Given the description of an element on the screen output the (x, y) to click on. 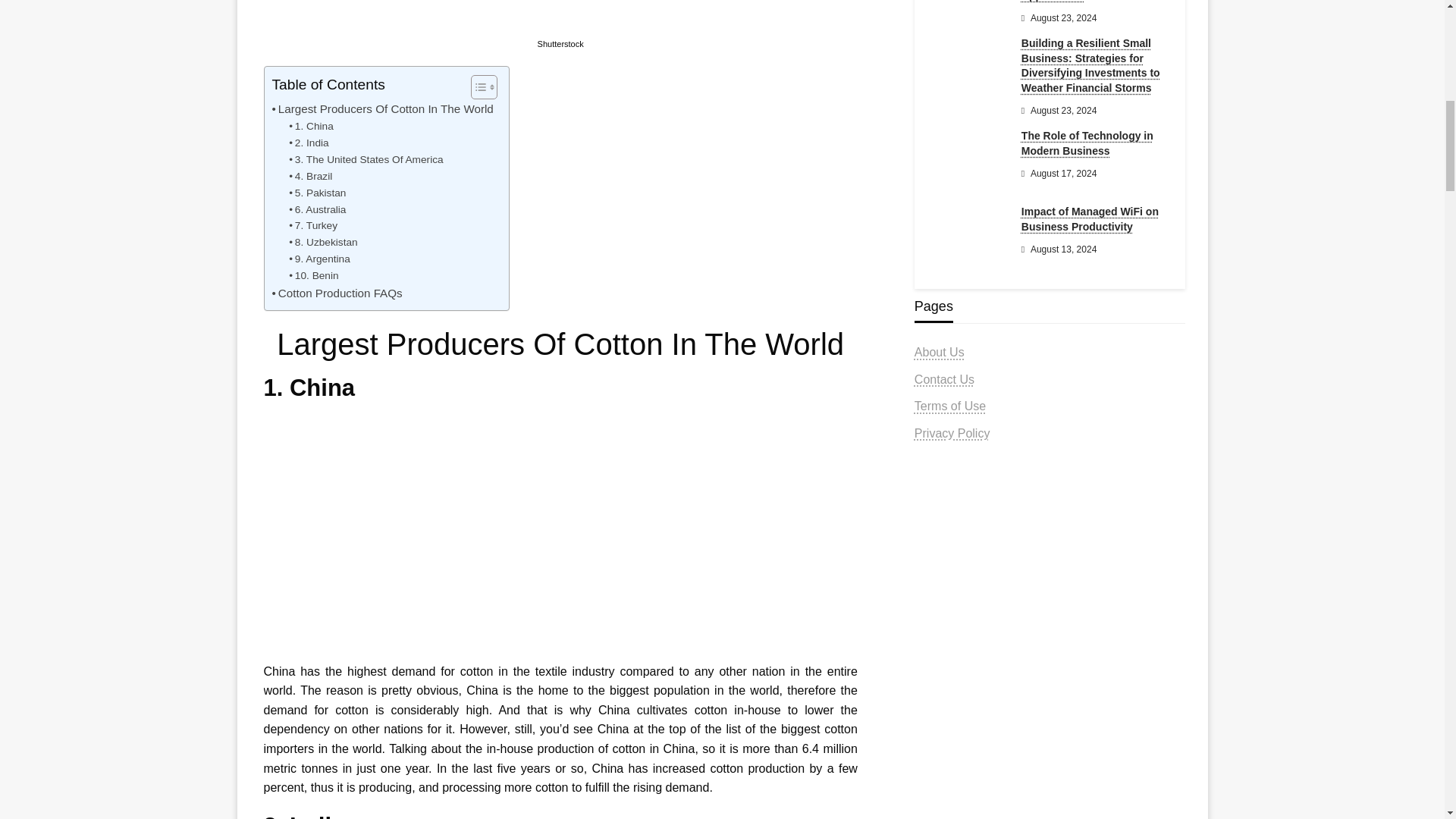
8. Uzbekistan (322, 242)
1. China (310, 126)
Largest Producers Of Cotton In The World (381, 108)
7. Turkey (312, 225)
5. Pakistan (317, 193)
4. Brazil (309, 176)
6. Australia (317, 209)
3. The United States Of America (365, 159)
2. India (308, 143)
